Given the description of an element on the screen output the (x, y) to click on. 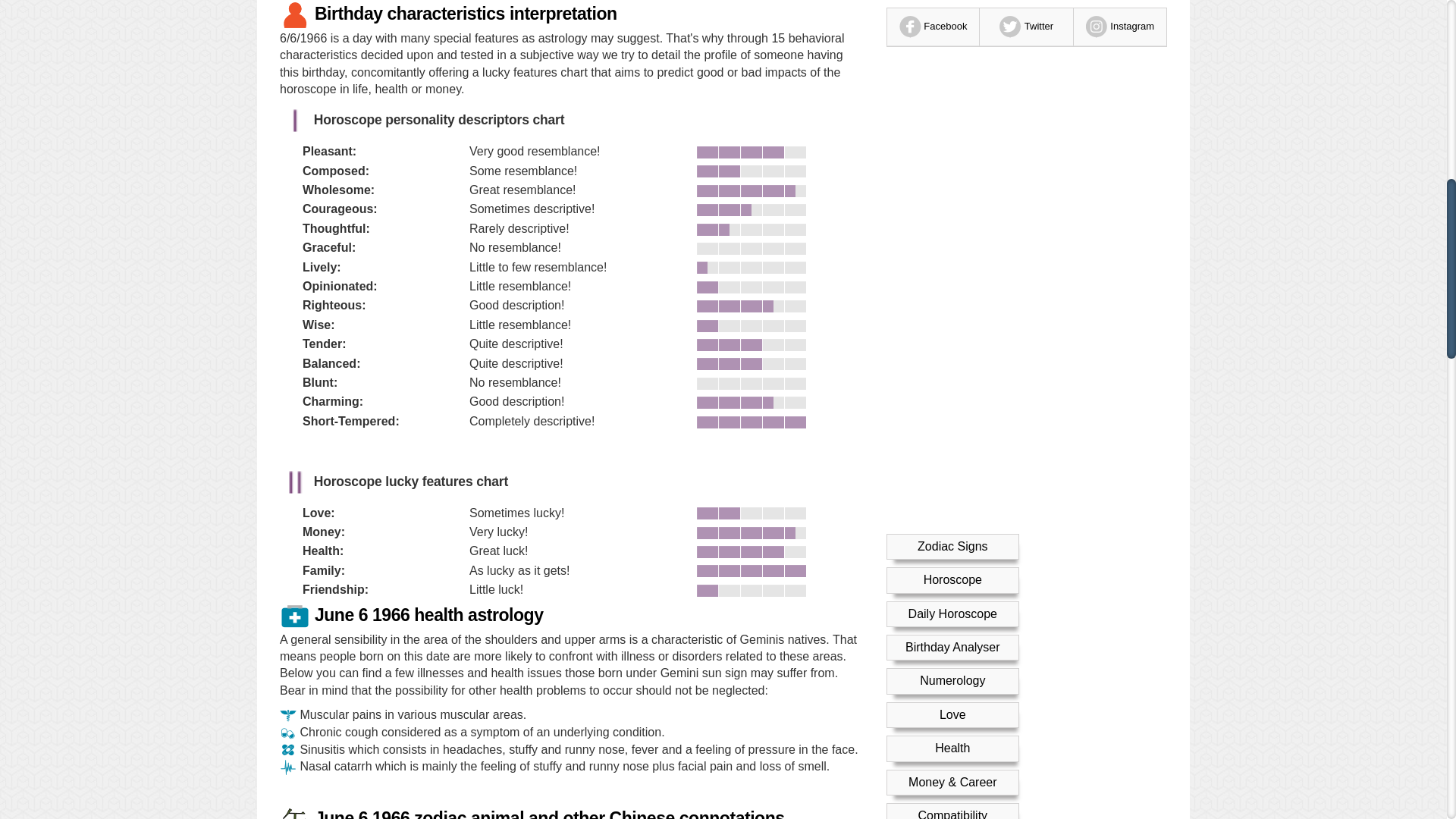
Compatibility (952, 40)
Birthdays (952, 107)
Astrology (952, 73)
4 Elements (952, 141)
